Given the description of an element on the screen output the (x, y) to click on. 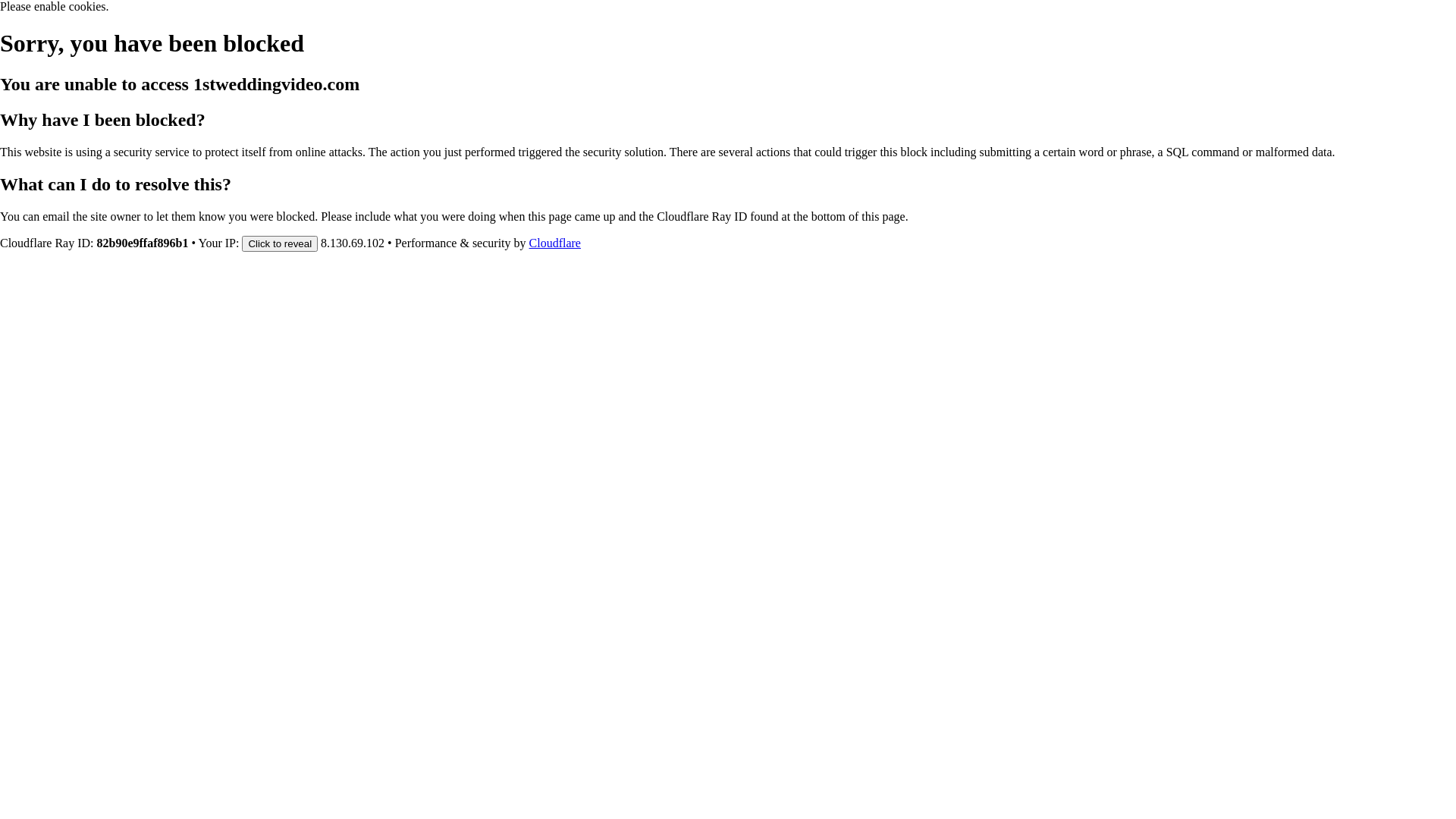
Click to reveal Element type: text (279, 243)
Cloudflare Element type: text (554, 242)
